Given the description of an element on the screen output the (x, y) to click on. 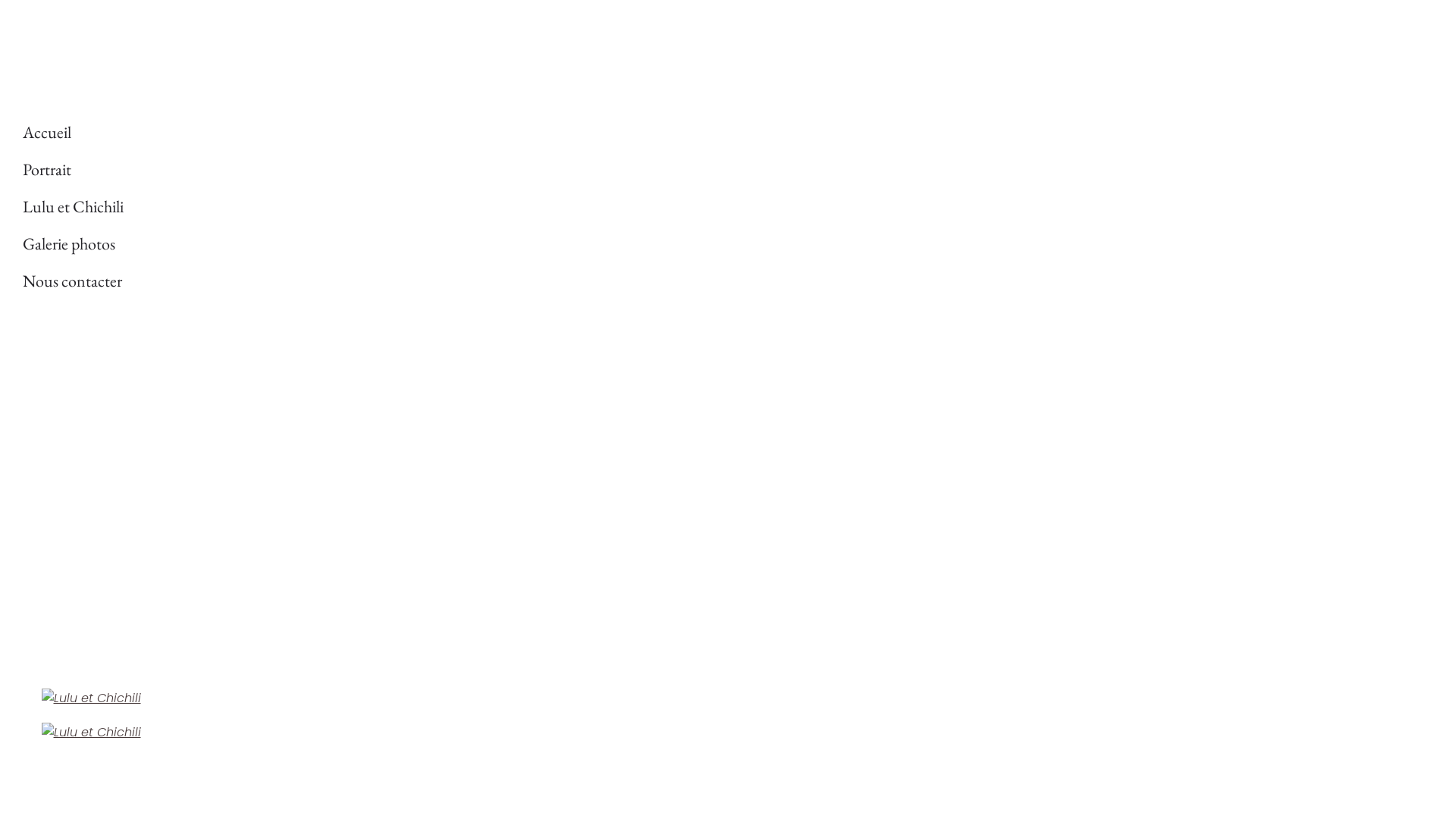
Accueil Element type: text (371, 131)
Galerie photos Element type: text (371, 243)
Nous contacter Element type: text (371, 280)
Portrait Element type: text (371, 169)
Lulu et Chichili Element type: text (371, 206)
